Given the description of an element on the screen output the (x, y) to click on. 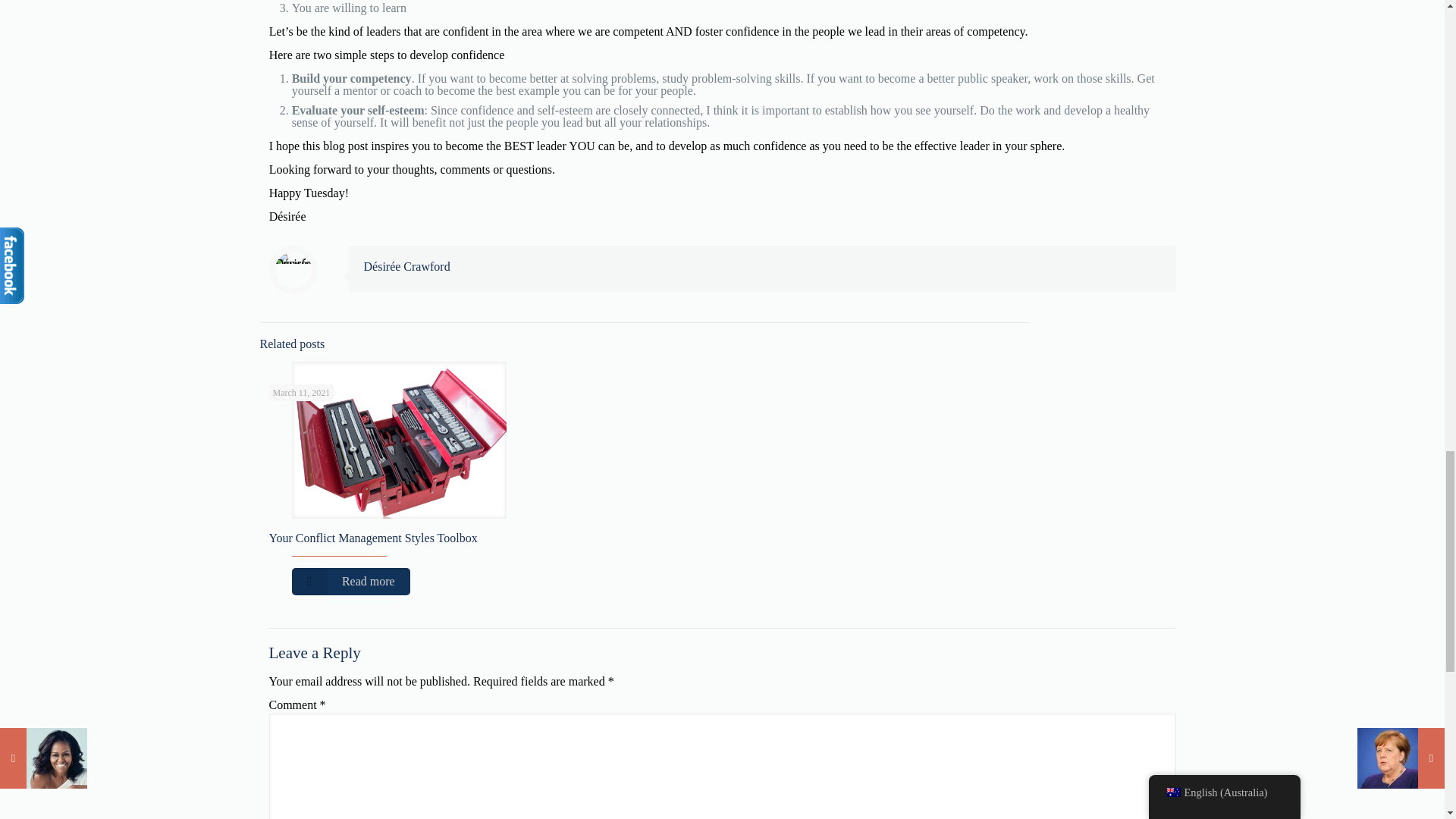
Your Conflict Management Styles Toolbox (372, 537)
Read more (350, 581)
